Given the description of an element on the screen output the (x, y) to click on. 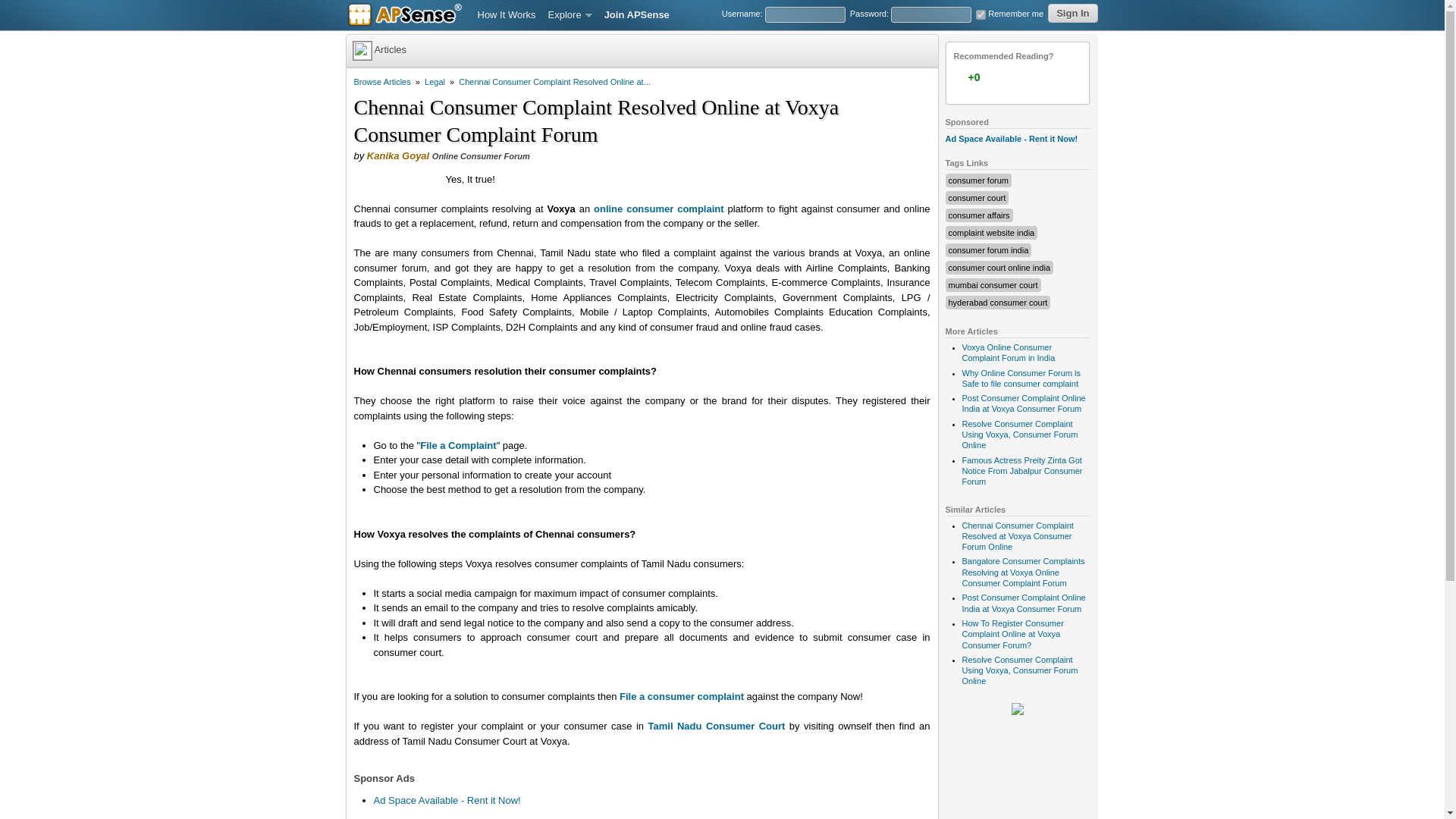
Vote Down (1031, 77)
-1 (1031, 77)
1 (980, 14)
complaint website india (990, 232)
Ad Space Available - Rent it Now! (1010, 138)
Join APSense (636, 15)
consumer forum (977, 180)
consumer court (976, 197)
Voxya Online Consumer Complaint Forum in India (1007, 352)
Tamil Nadu Consumer Court (715, 726)
Why Online Consumer Forum is Safe to file consumer complaint (1020, 378)
Chennai Consumer Complaint Resolved Online at... (554, 81)
